Given the description of an element on the screen output the (x, y) to click on. 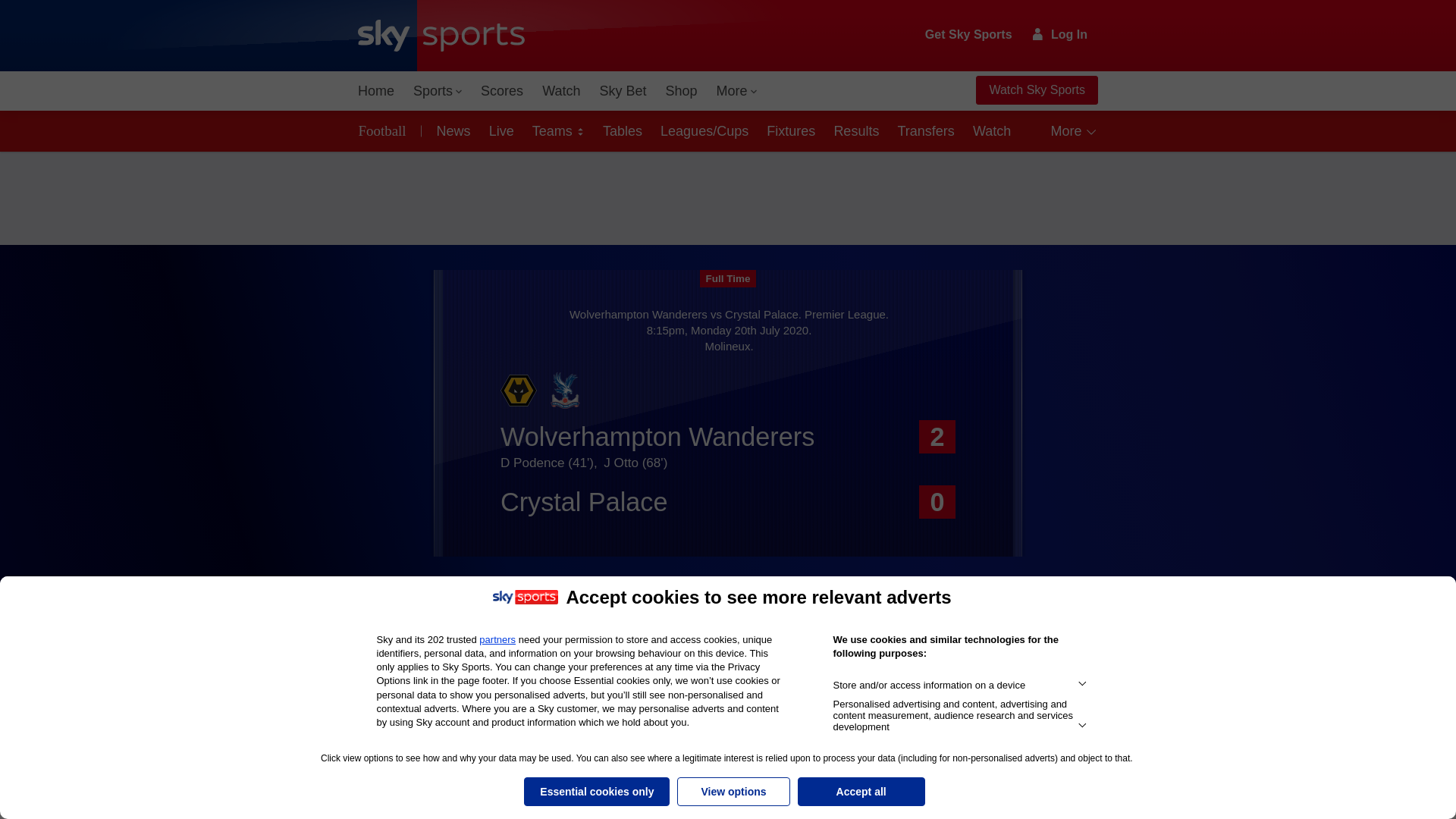
More (736, 91)
Watch Sky Sports (1036, 90)
Home (375, 91)
Sky Bet (622, 91)
Shop (681, 91)
News (451, 130)
Scores (502, 91)
Get Sky Sports (968, 34)
Watch (561, 91)
Log In (1060, 33)
